Given the description of an element on the screen output the (x, y) to click on. 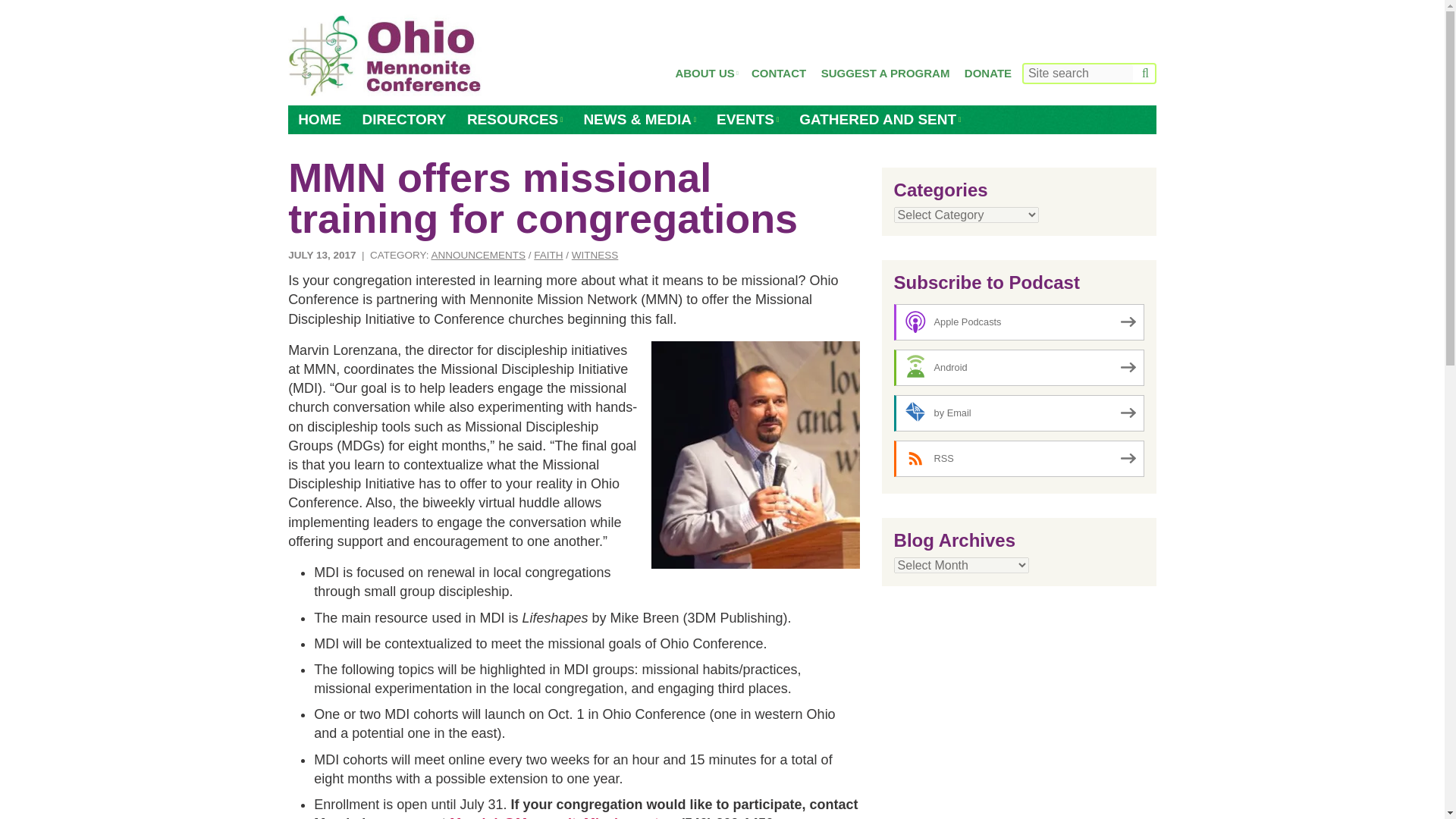
Subscribe on Apple Podcasts (1018, 321)
Subscribe via RSS (1018, 458)
Subscribe by Email (1018, 412)
RESOURCES (514, 119)
Ohio Mennonite Conference (384, 55)
Subscribe on Android (1018, 367)
DIRECTORY (404, 119)
HOME (319, 119)
